Given the description of an element on the screen output the (x, y) to click on. 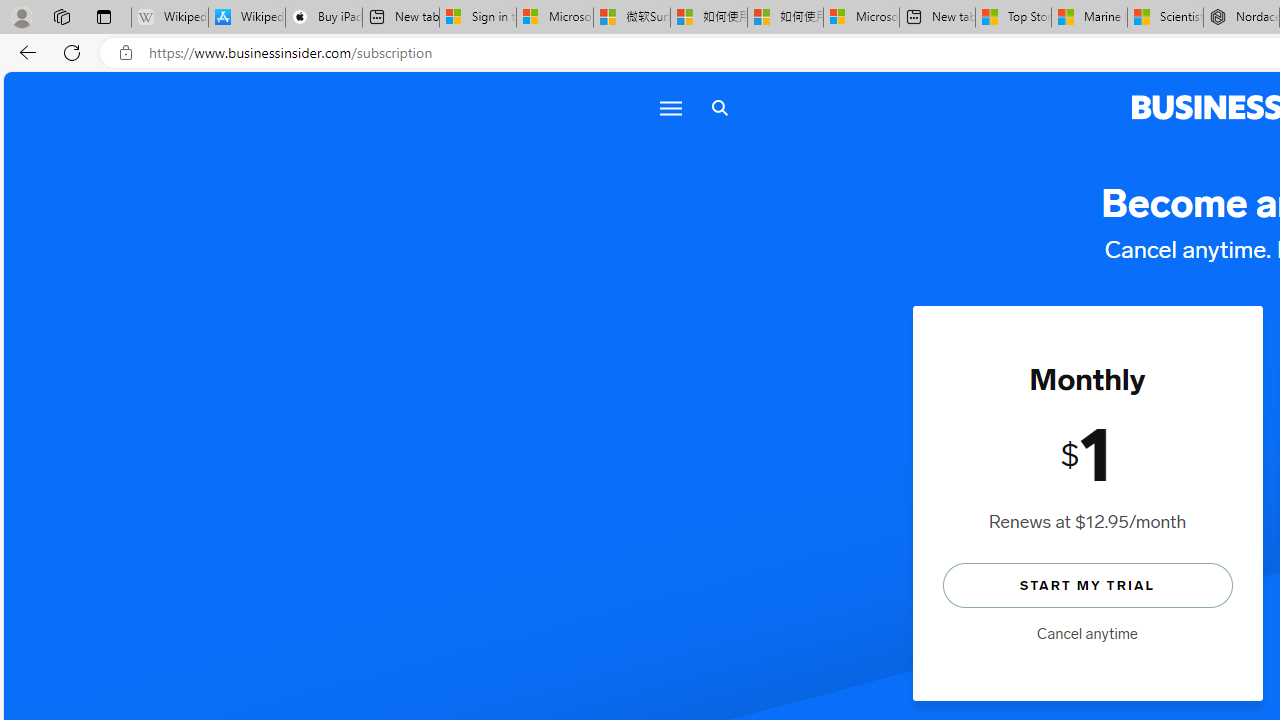
Menu icon (670, 107)
Cancel anytime (1087, 633)
Go to the search page. (719, 107)
Search icon (719, 107)
